Given the description of an element on the screen output the (x, y) to click on. 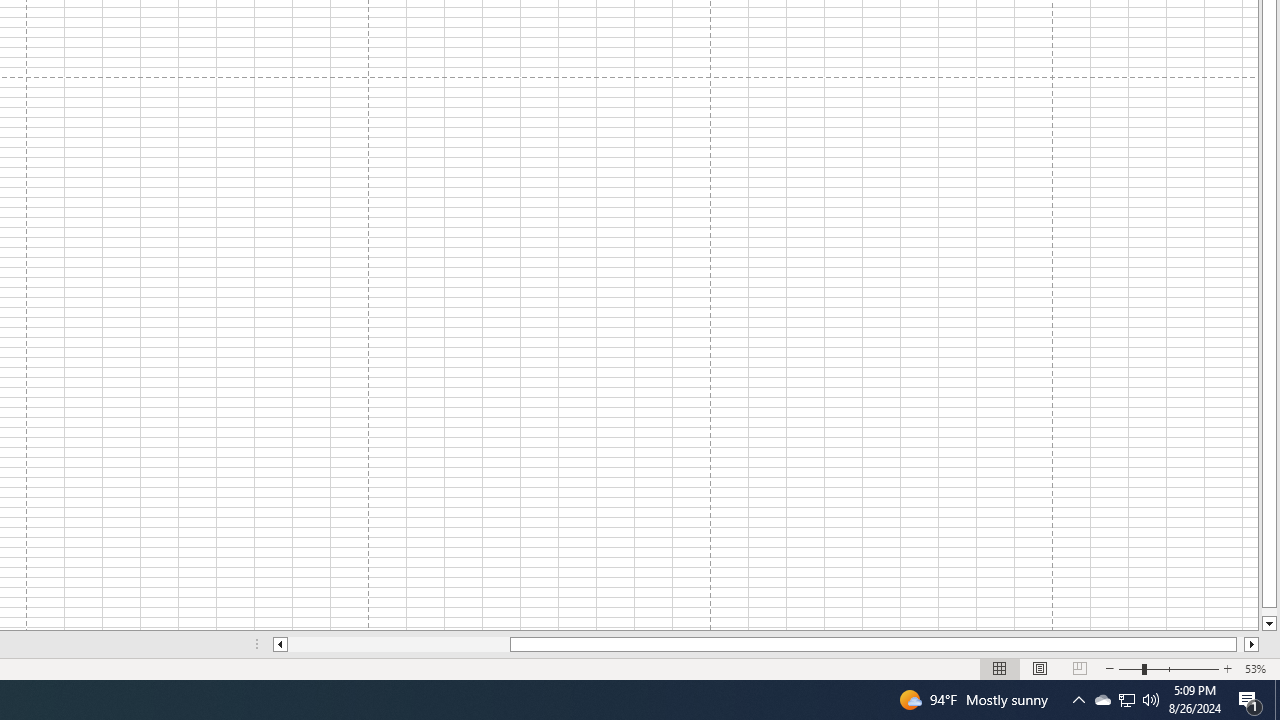
Page left (398, 644)
